Given the description of an element on the screen output the (x, y) to click on. 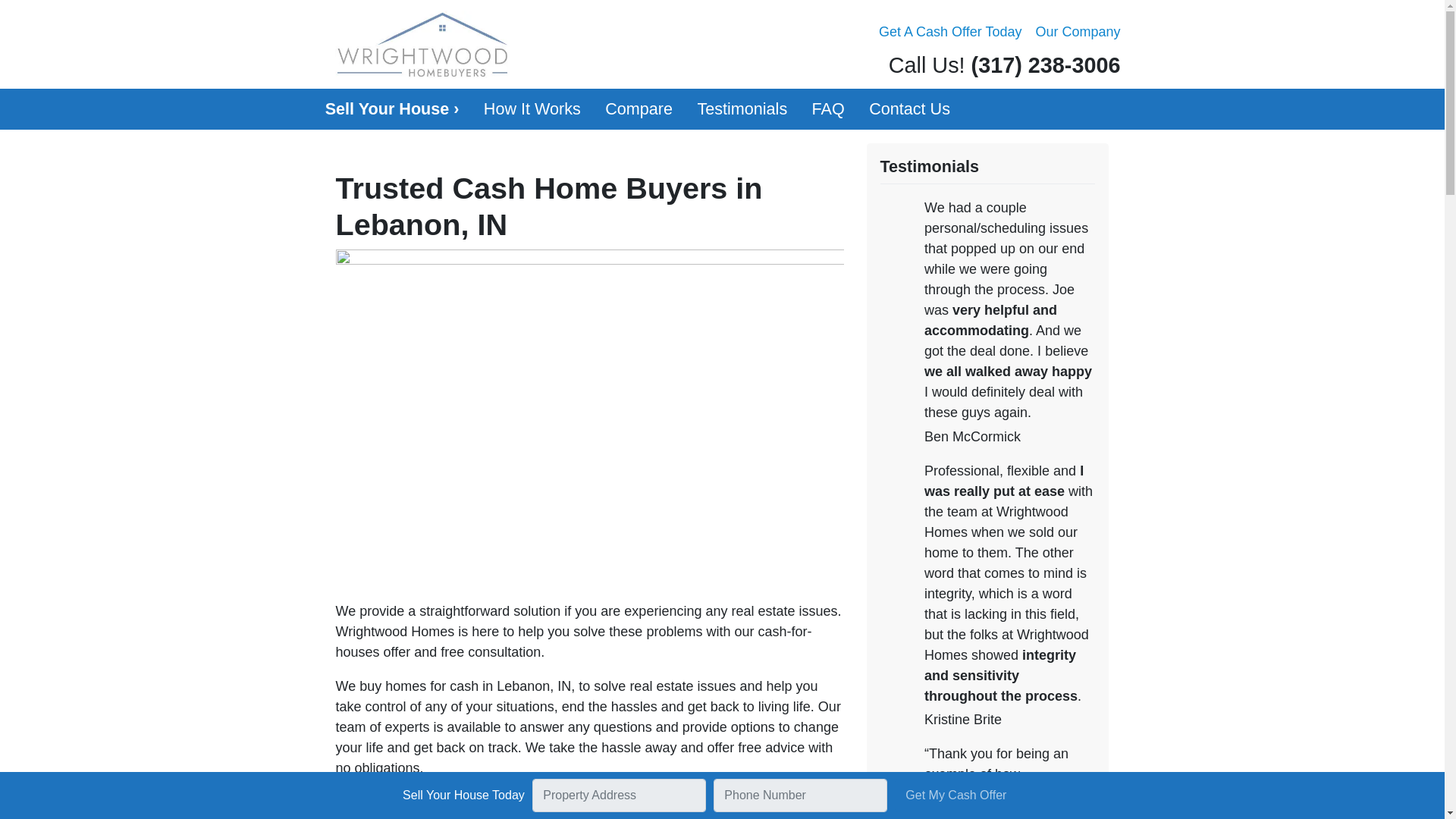
Get My Cash Offer (956, 795)
Testimonials (741, 108)
Contact Us (909, 108)
Contact Us (909, 108)
How It Works (531, 108)
Our Company (1076, 32)
Get A Cash Offer Today (949, 32)
Compare (638, 108)
FAQ (828, 108)
Testimonials (741, 108)
